Given the description of an element on the screen output the (x, y) to click on. 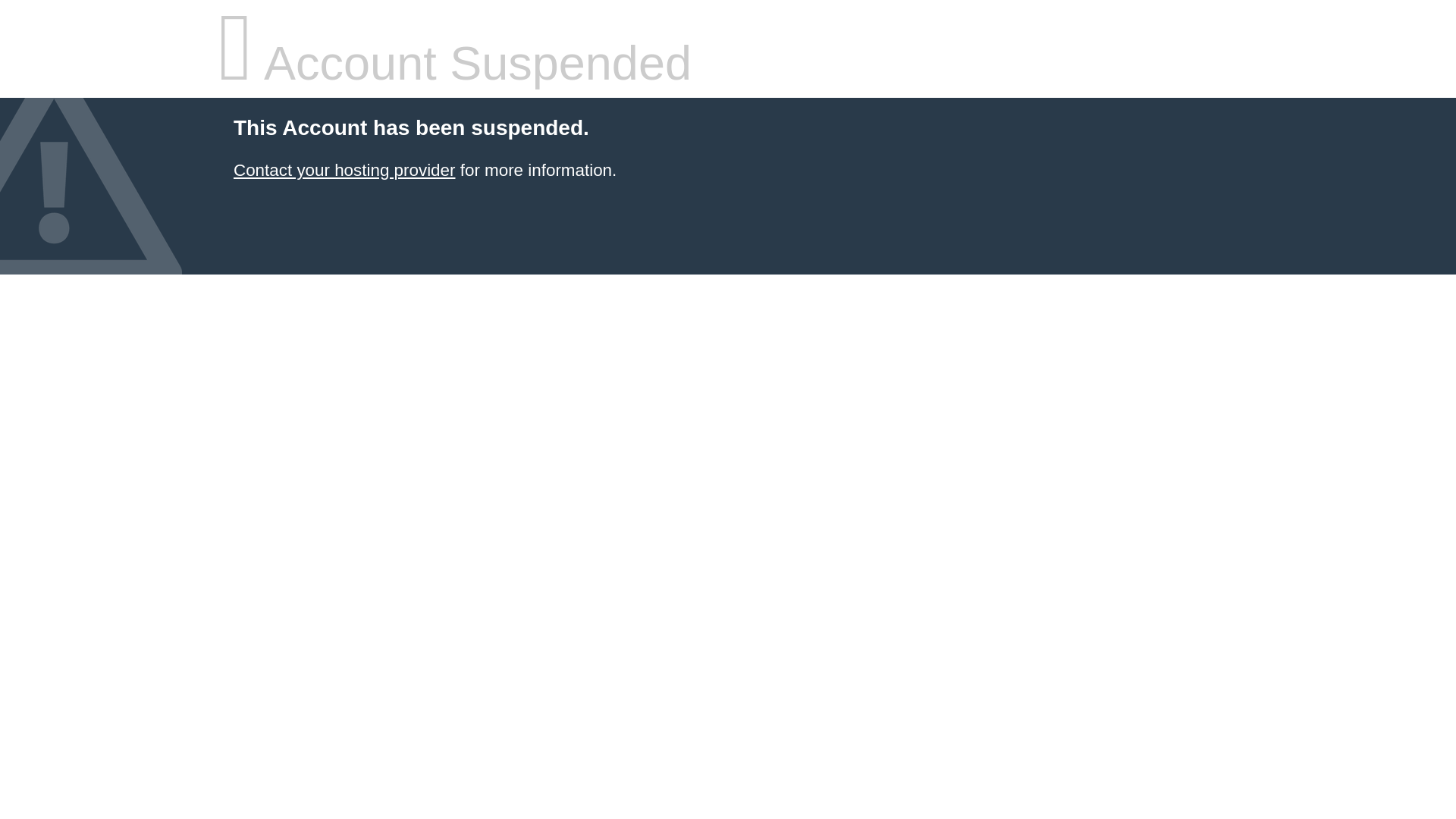
Contact your hosting provider (343, 169)
